Given the description of an element on the screen output the (x, y) to click on. 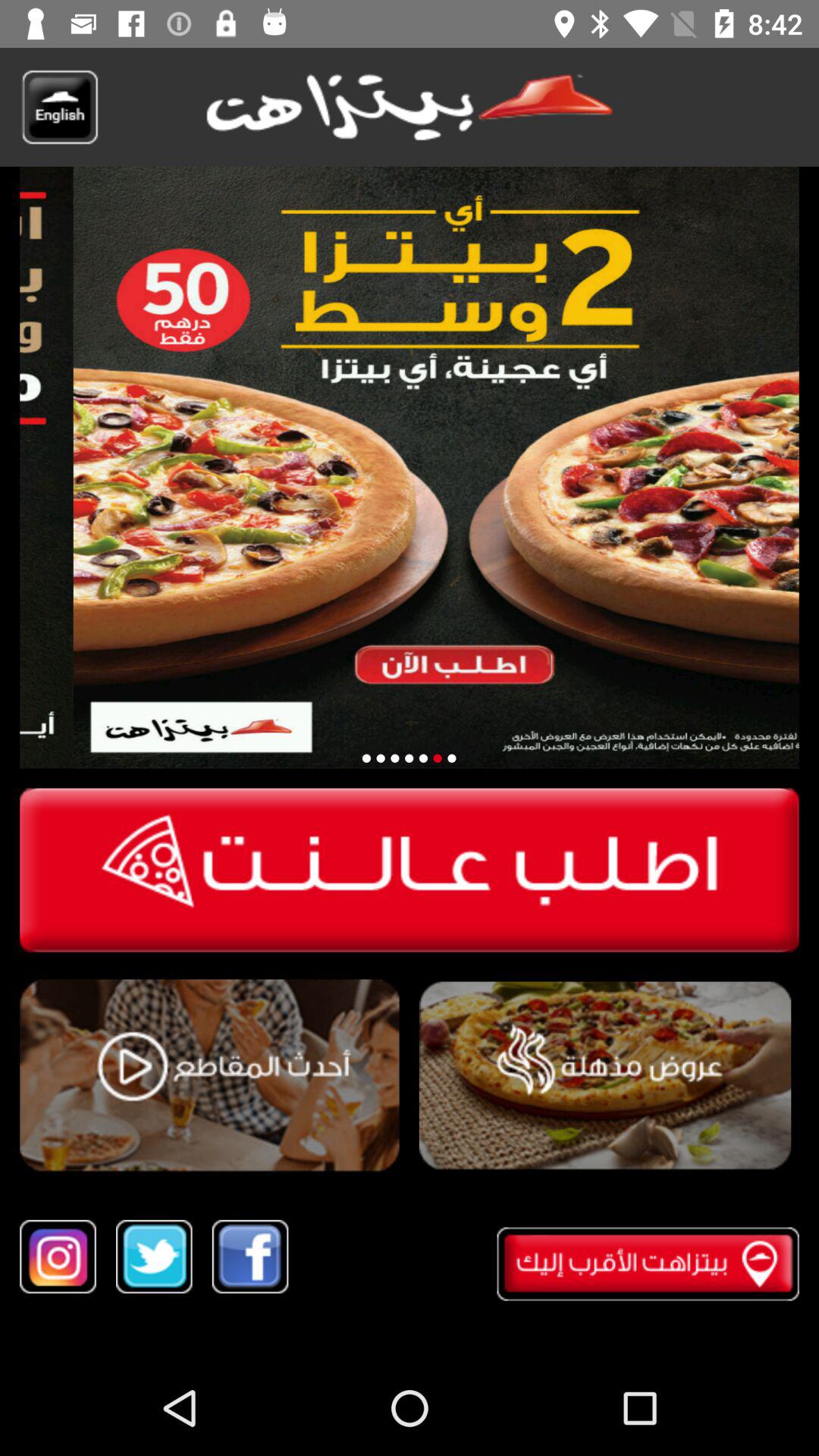
play product video (209, 1075)
